Given the description of an element on the screen output the (x, y) to click on. 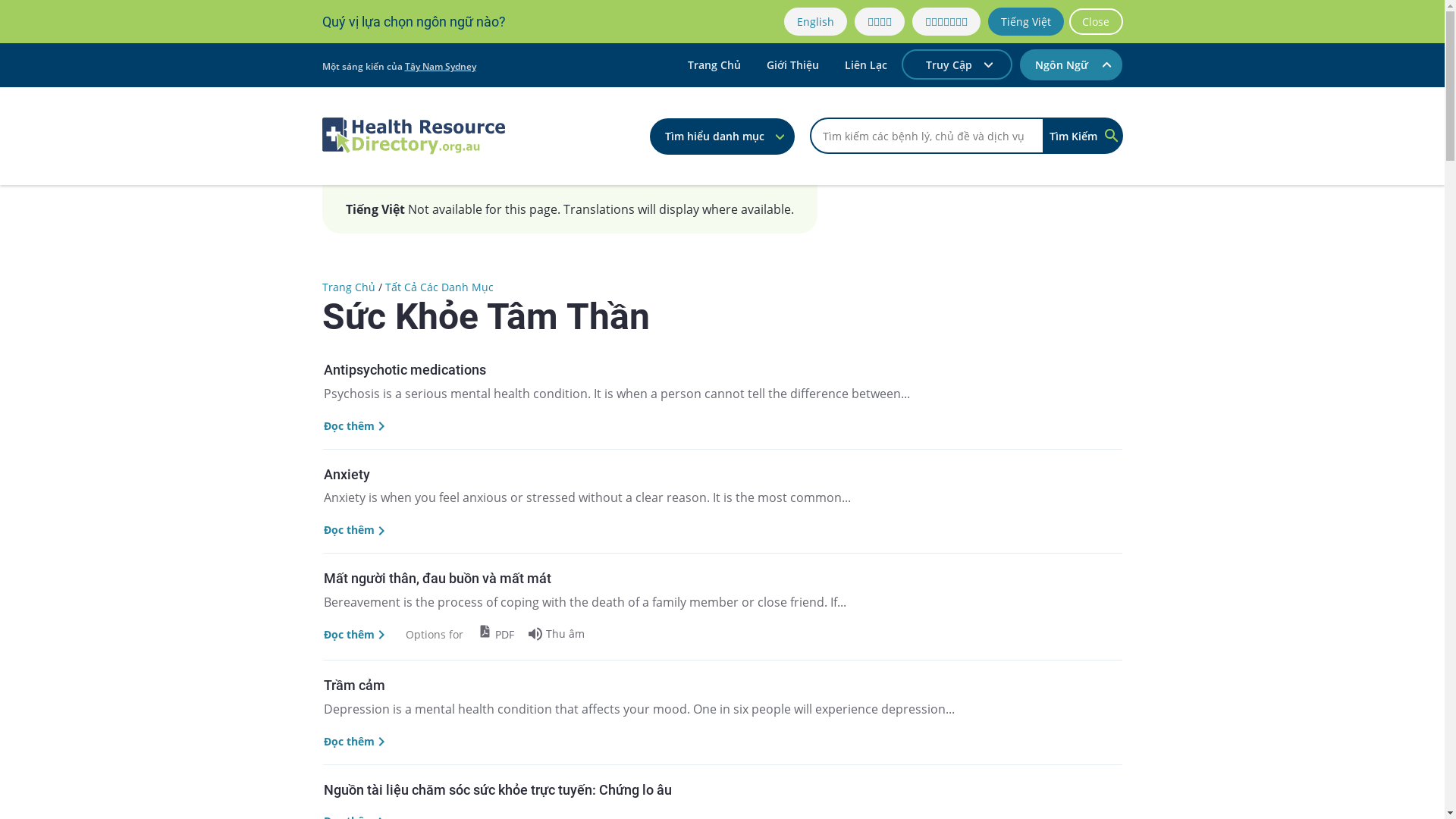
English Element type: text (815, 21)
Antipsychotic medications Element type: text (721, 369)
Close Element type: text (1096, 21)
Anxiety Element type: text (721, 474)
PDF Element type: text (495, 634)
